Given the description of an element on the screen output the (x, y) to click on. 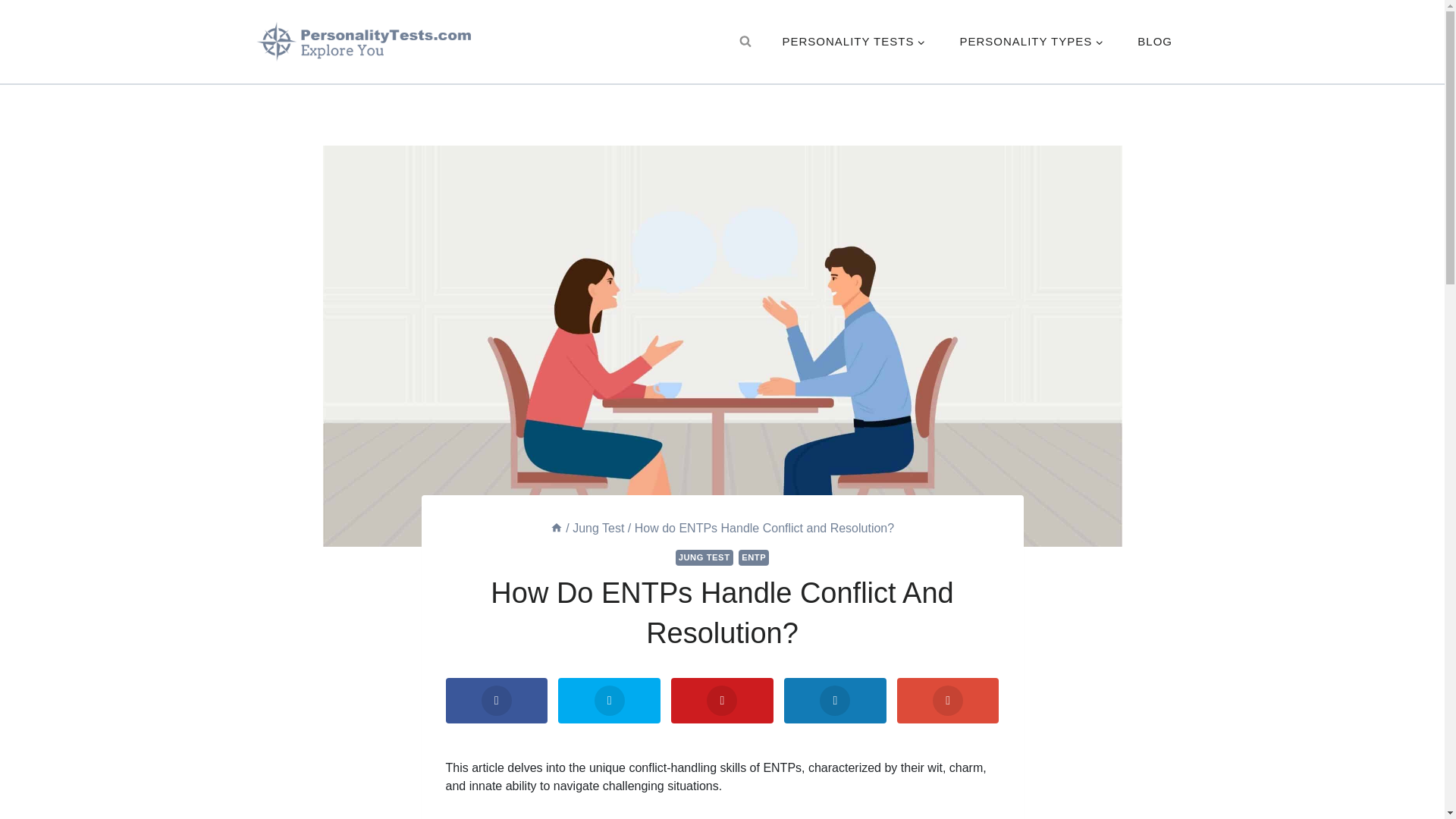
Home (556, 527)
PERSONALITY TYPES (1031, 41)
PERSONALITY TESTS (853, 41)
BLOG (1155, 41)
ENTP (753, 557)
Jung Test (598, 527)
JUNG TEST (704, 557)
